Given the description of an element on the screen output the (x, y) to click on. 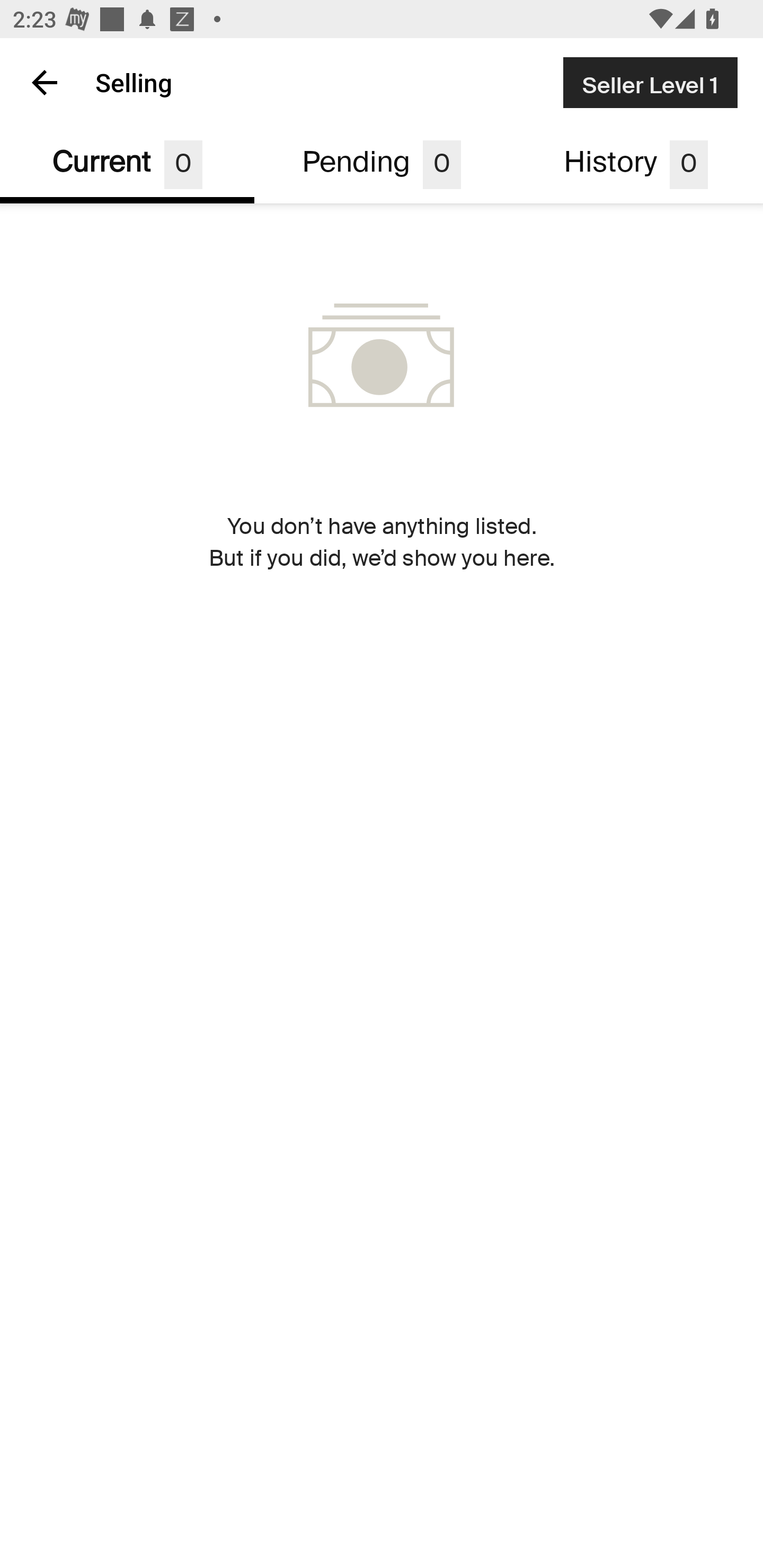
Navigate up (44, 82)
Seller Level 1 (650, 82)
Pending 0 (381, 165)
History 0 (635, 165)
